Given the description of an element on the screen output the (x, y) to click on. 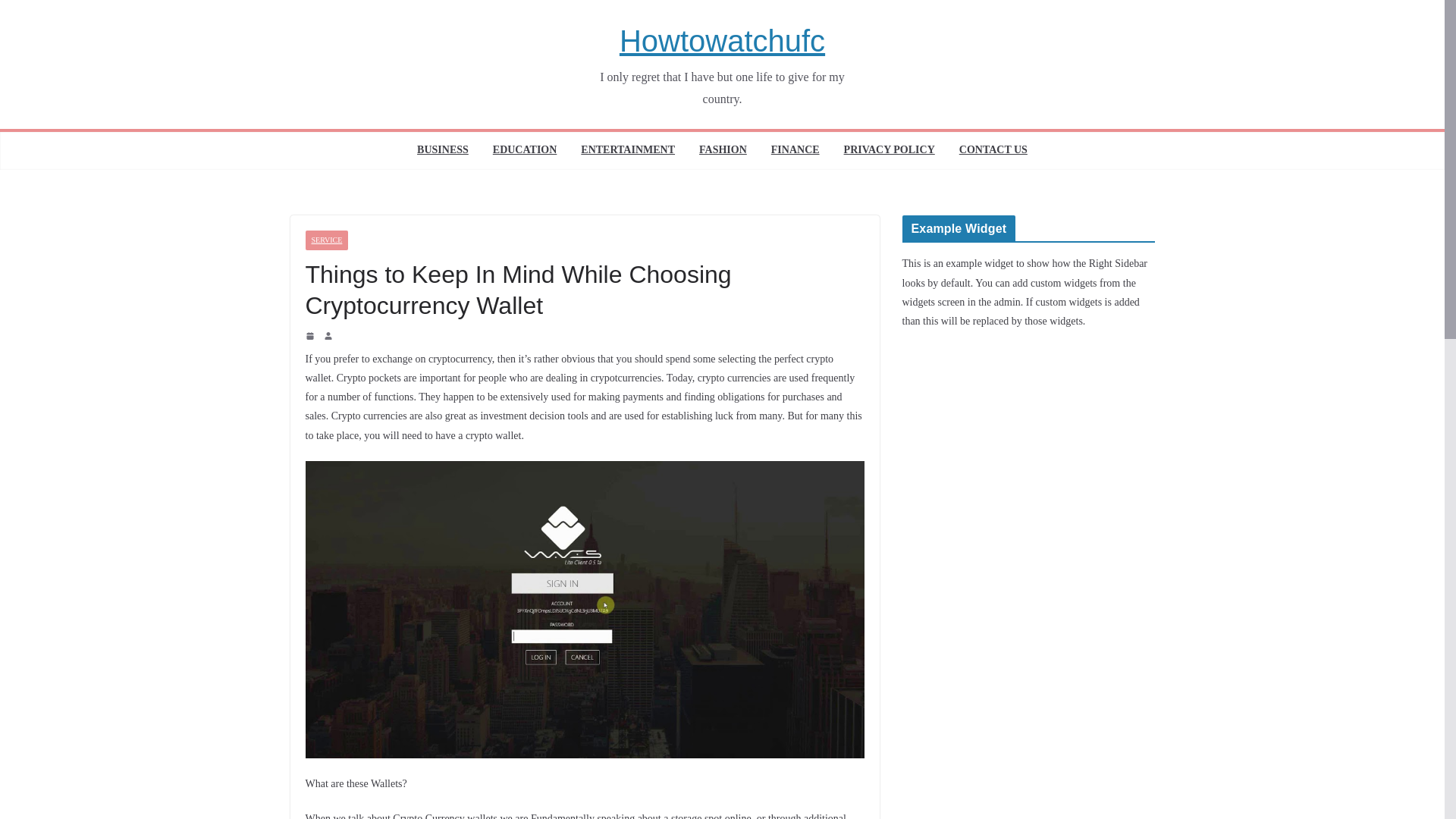
FINANCE (795, 150)
ENTERTAINMENT (627, 150)
BUSINESS (442, 150)
EDUCATION (525, 150)
CONTACT US (993, 150)
PRIVACY POLICY (889, 150)
Howtowatchufc (722, 40)
Howtowatchufc (722, 40)
SERVICE (325, 240)
FASHION (722, 150)
